Given the description of an element on the screen output the (x, y) to click on. 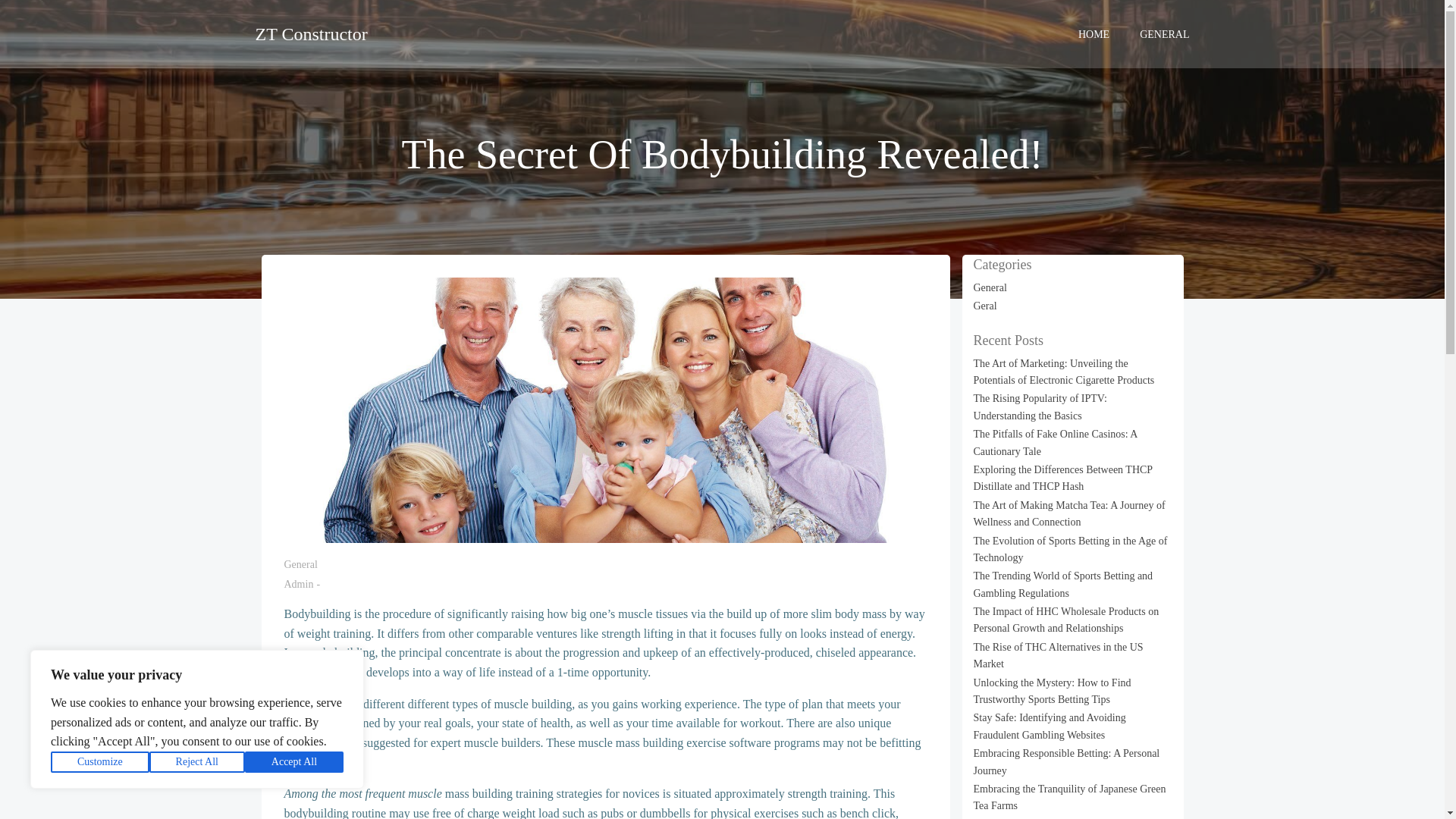
Accept All (293, 762)
GENERAL (1164, 33)
Geral (985, 306)
ZT Constructor (310, 33)
HOME (1093, 33)
General (990, 287)
Customize (99, 762)
The Pitfalls of Fake Online Casinos: A Cautionary Tale (1055, 442)
The Rising Popularity of IPTV: Understanding the Basics (1040, 406)
Reject All (196, 762)
Admin (298, 584)
